Given the description of an element on the screen output the (x, y) to click on. 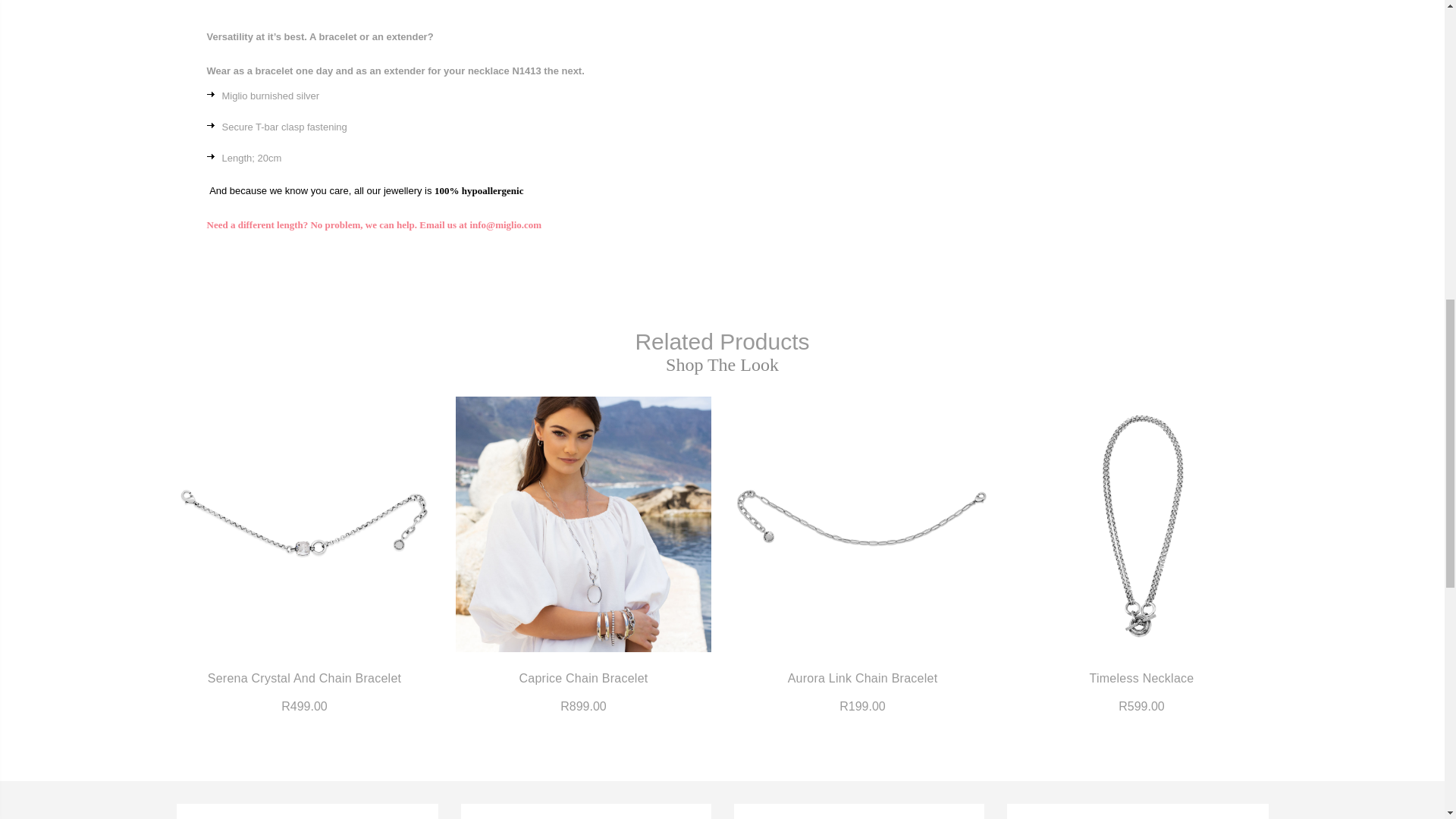
Aurora Link Chain Bracelet (861, 523)
Serena Crystal And Chain Bracelet (304, 523)
Timeless Necklace    (1141, 523)
